Given the description of an element on the screen output the (x, y) to click on. 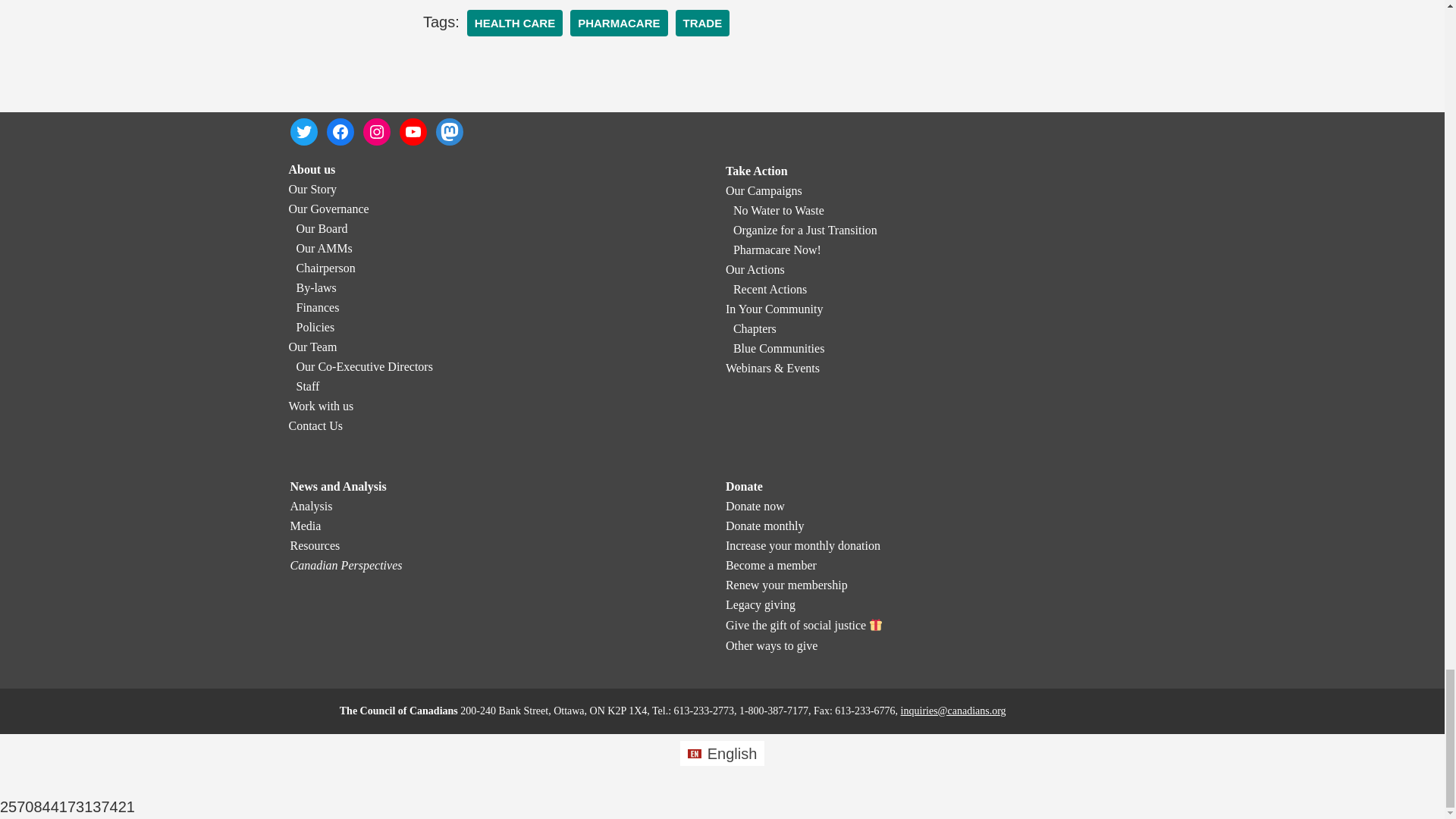
About us (311, 169)
Our Governance (328, 208)
Our AMMs (323, 247)
Pharmacare (618, 22)
Trade (702, 22)
TRADE (702, 22)
Our Board (321, 228)
PHARMACARE (618, 22)
HEALTH CARE (514, 22)
Our Story (312, 188)
